Given the description of an element on the screen output the (x, y) to click on. 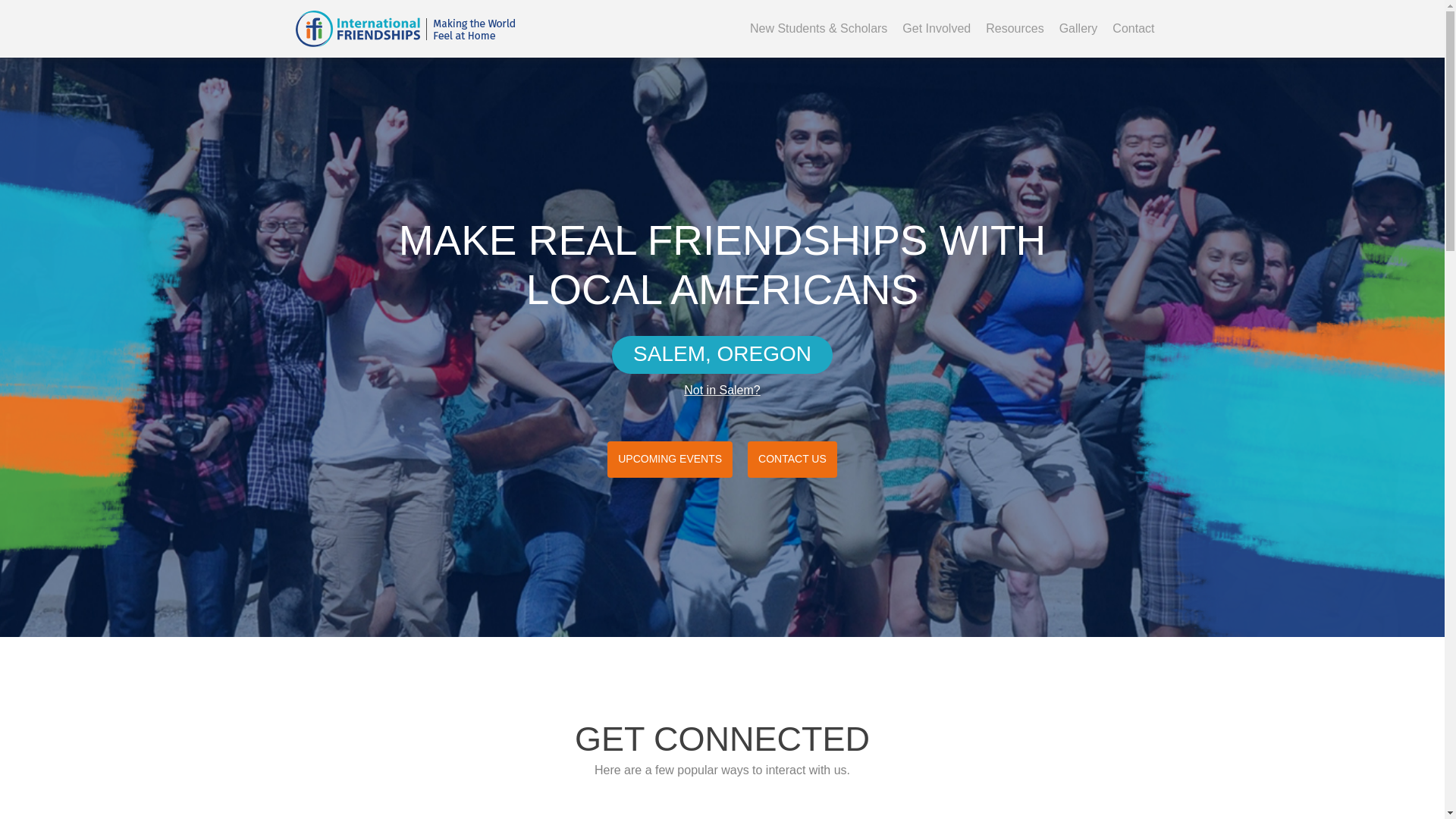
Contact (1133, 28)
Gallery (1078, 28)
UPCOMING EVENTS (669, 459)
CONTACT US (792, 459)
Resources (1014, 28)
Not in Salem? (722, 390)
Get Involved (936, 28)
